Given the description of an element on the screen output the (x, y) to click on. 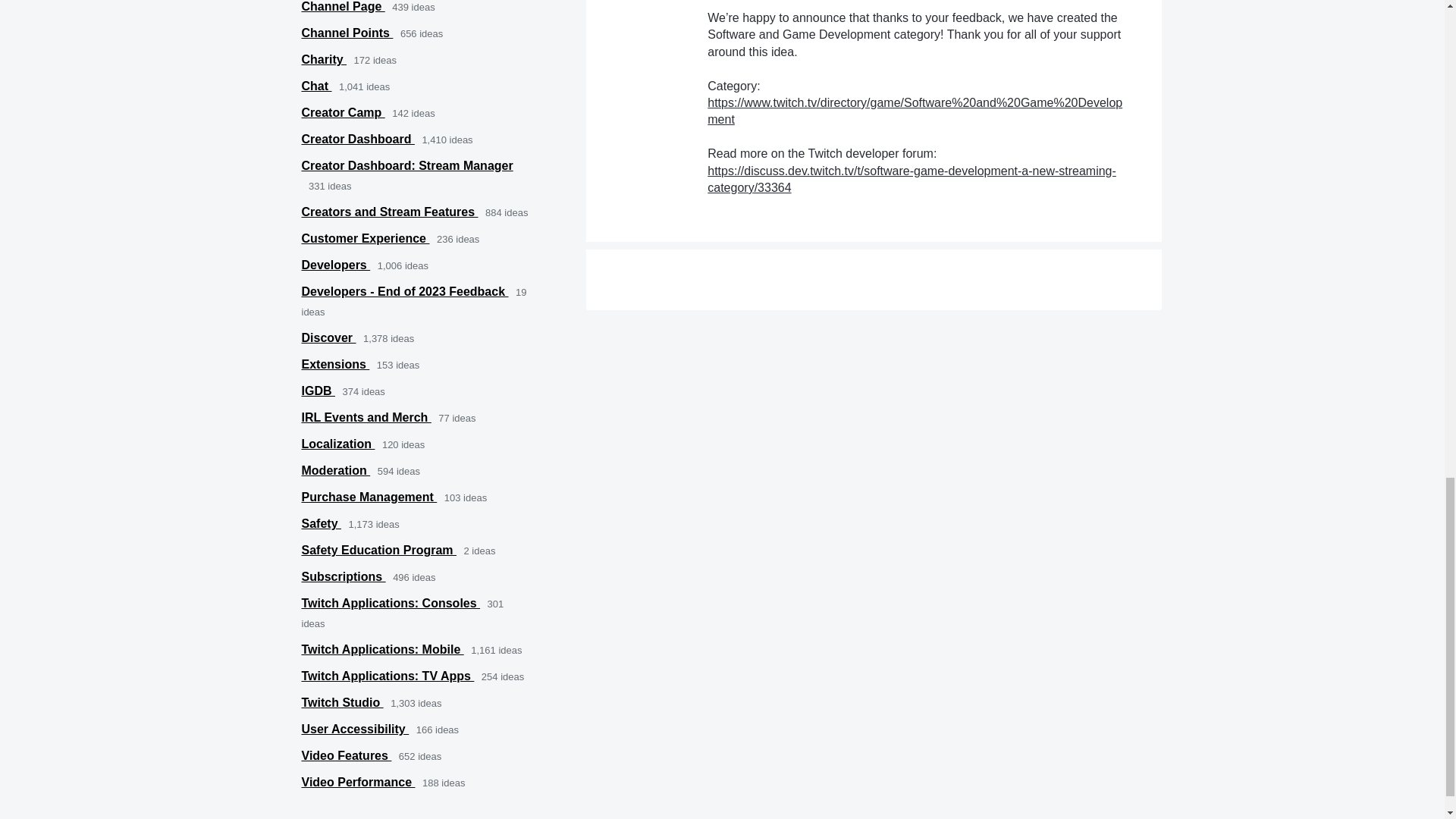
Creators and Stream Features (390, 211)
Customer Experience (365, 237)
Channel Points (347, 32)
Charity (324, 59)
Channel Page (343, 6)
Creator Camp (343, 112)
Creator Dashboard (357, 138)
View all ideas in Channel Points (347, 32)
Creator Dashboard: Stream Manager (407, 164)
Chat (316, 85)
Developers - End of 2023 Feedback (404, 291)
View all ideas in Channel Page (343, 6)
Developers (336, 264)
